Given the description of an element on the screen output the (x, y) to click on. 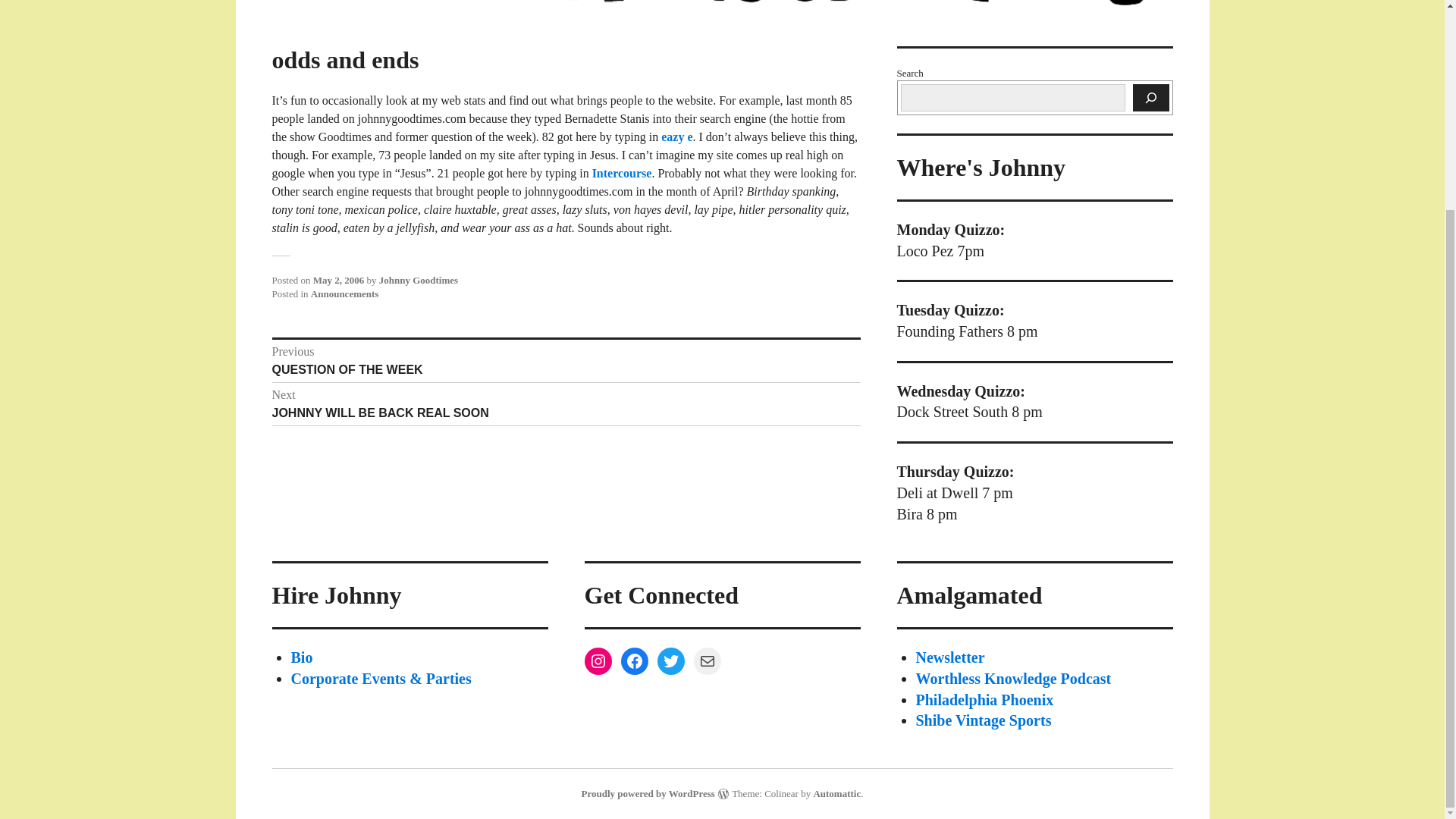
Johnny Goodtimes (565, 403)
Twitter (418, 279)
Instagram (670, 660)
Newsletter (597, 660)
Worthless Knowledge Podcast (950, 657)
Mail (1013, 678)
Announcements (565, 361)
eazy e (706, 660)
Shibe Vintage Sports (344, 293)
Bio (677, 136)
Intercourse (983, 719)
May 2, 2006 (302, 657)
Philadelphia Phoenix (620, 173)
